Given the description of an element on the screen output the (x, y) to click on. 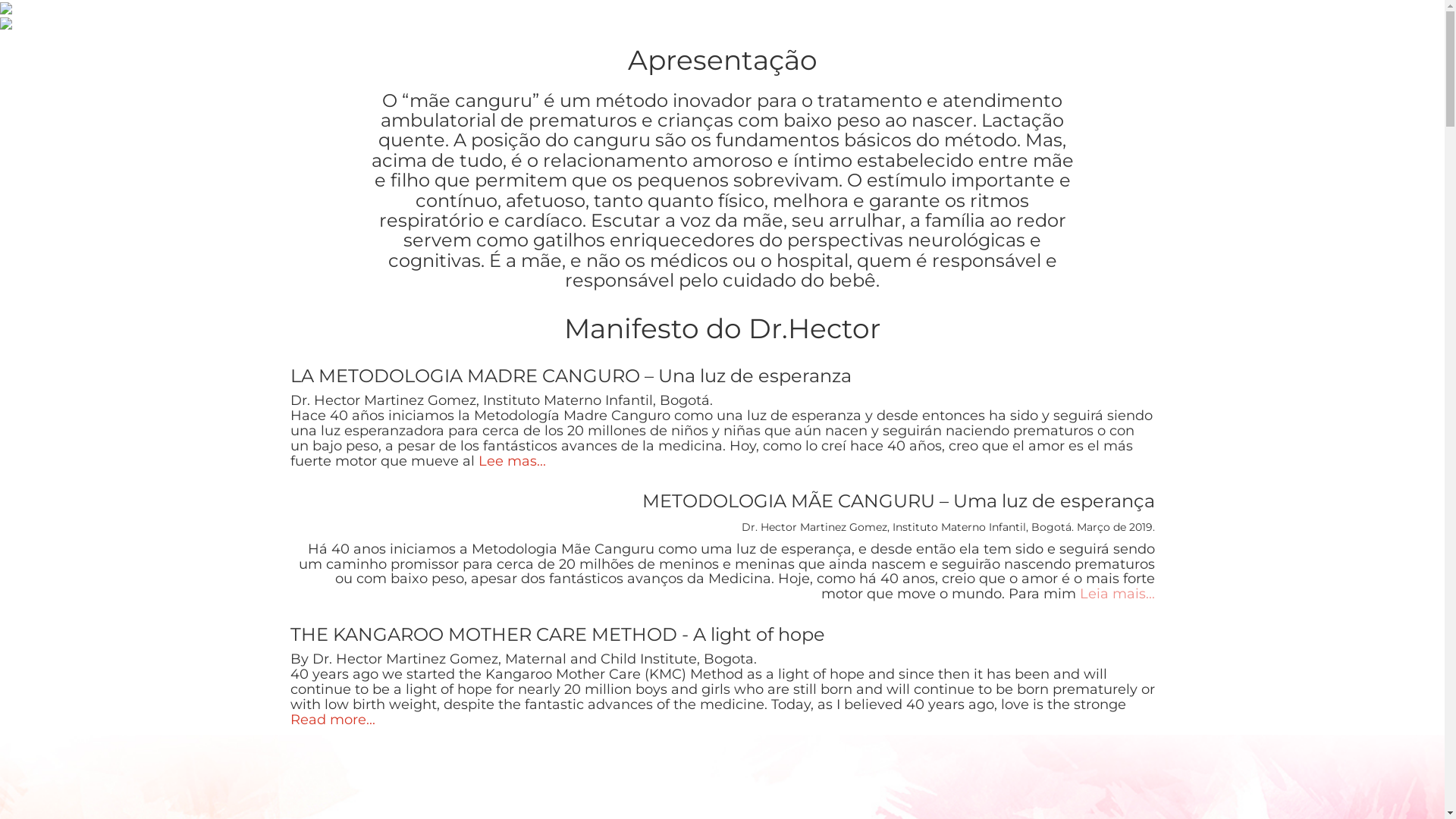
Lee mas... Element type: text (511, 460)
Read more... Element type: text (331, 719)
Leia mais... Element type: text (1114, 593)
